Given the description of an element on the screen output the (x, y) to click on. 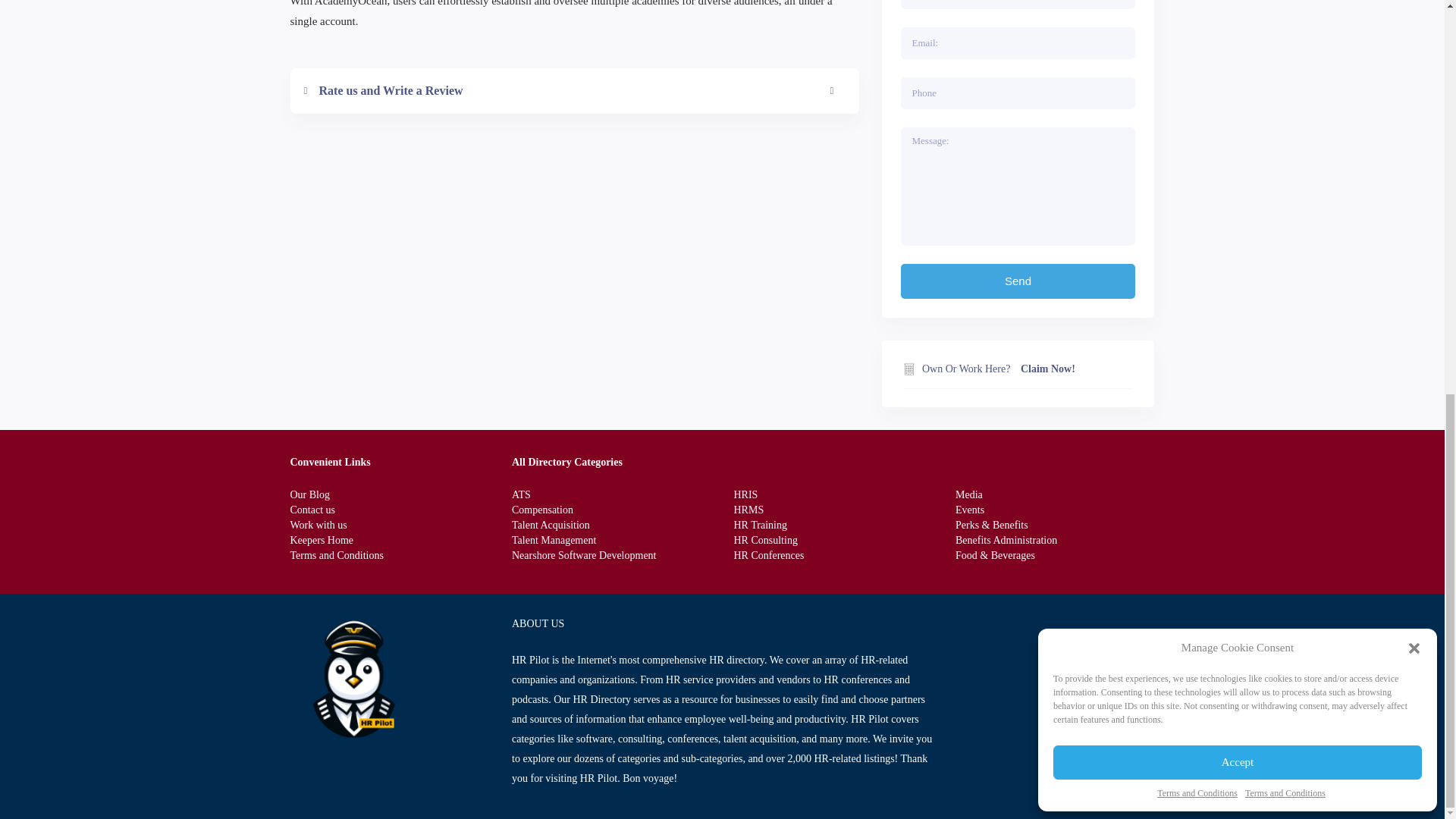
Accept (1237, 11)
Send (1018, 280)
Terms and Conditions (1284, 35)
Terms and Conditions (1197, 35)
